Given the description of an element on the screen output the (x, y) to click on. 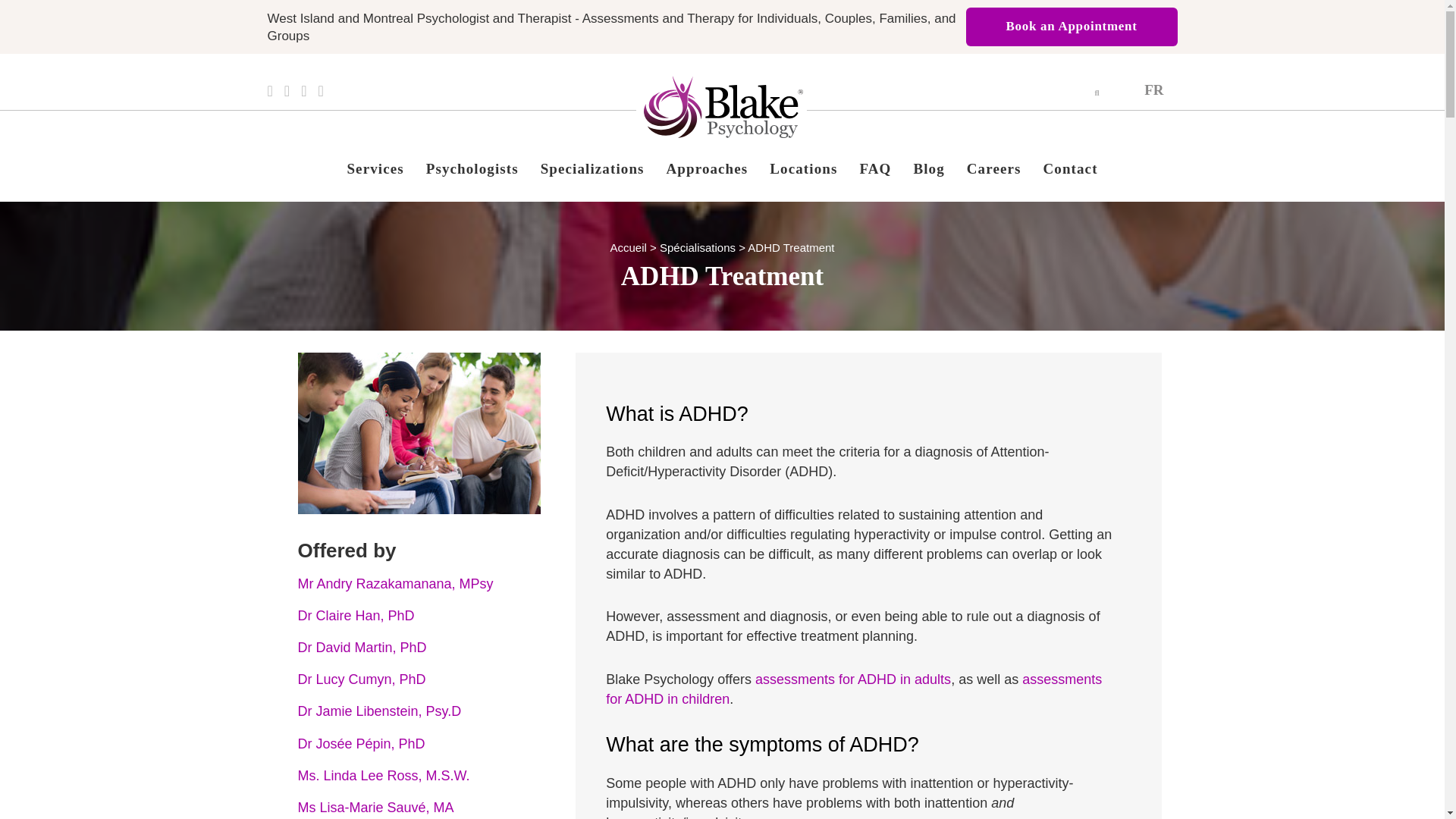
FR (1153, 88)
Psychologists (471, 168)
Specializations (592, 168)
logo-english (723, 107)
Services (374, 168)
Careers (994, 168)
Contact (1070, 168)
Blog (928, 168)
Approaches (707, 168)
FAQ (874, 168)
